Given the description of an element on the screen output the (x, y) to click on. 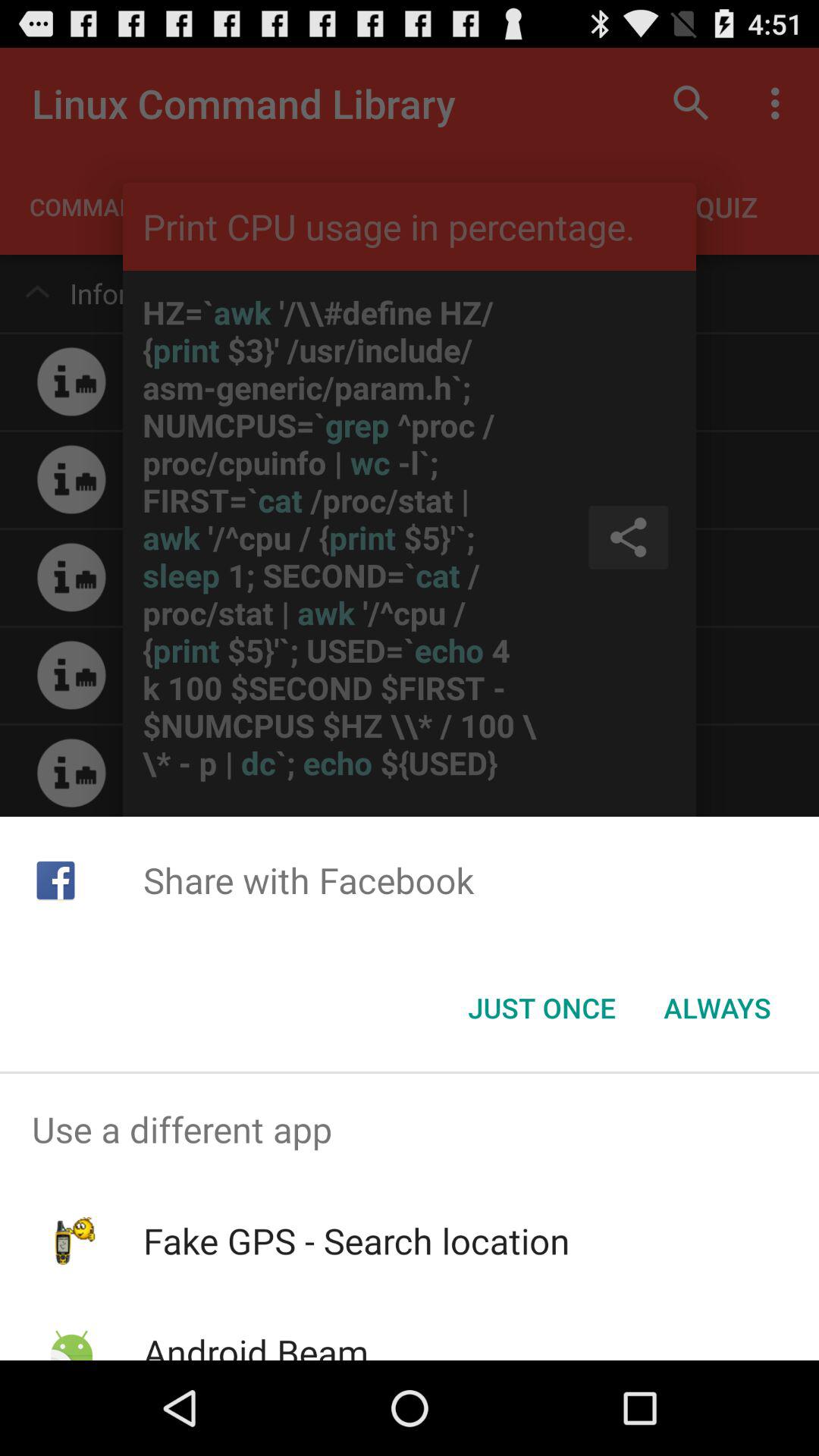
click the icon below the share with facebook (541, 1007)
